Given the description of an element on the screen output the (x, y) to click on. 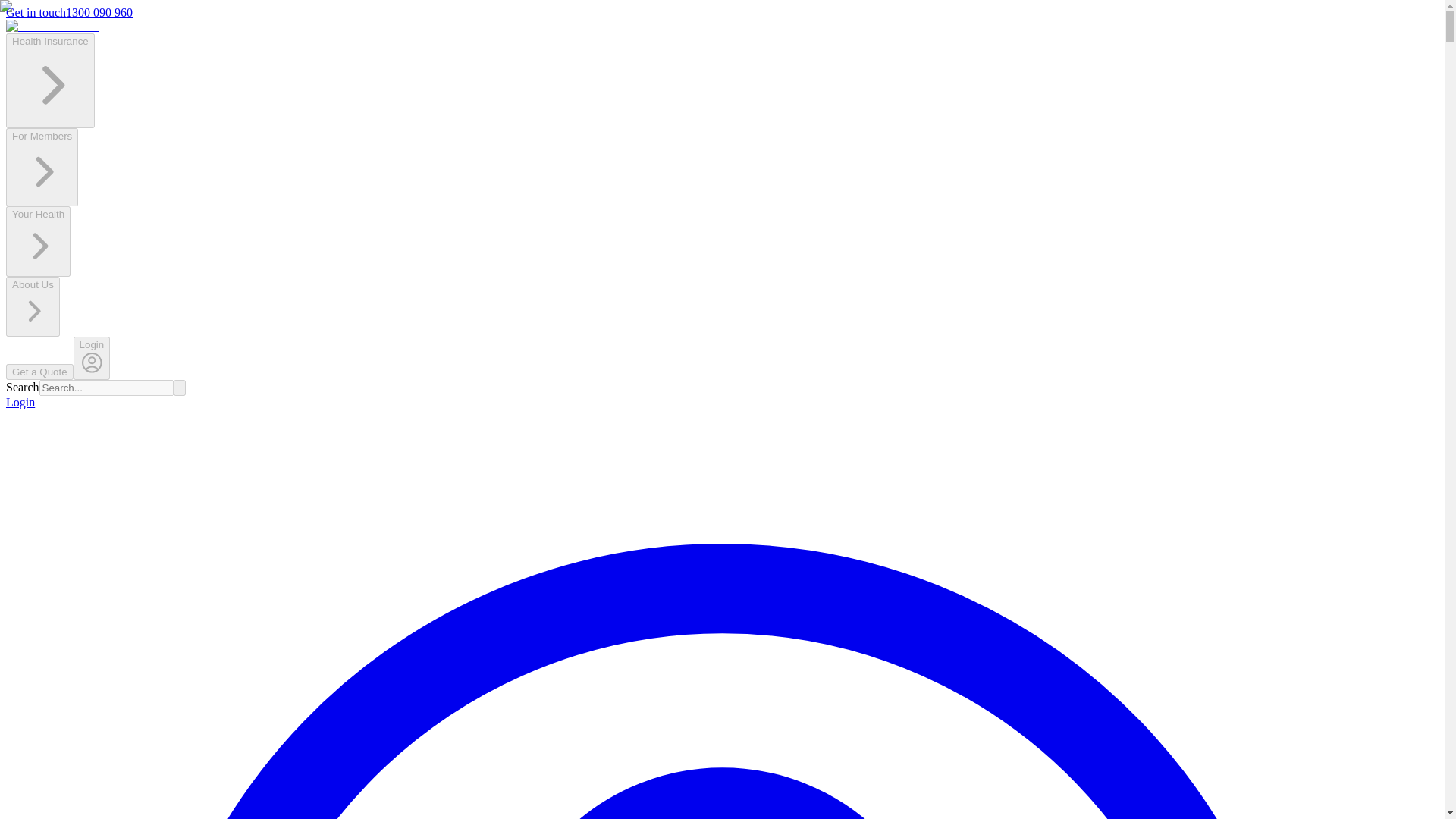
Health Insurance (49, 119)
Get a Quote (39, 370)
Your Health (37, 241)
For Members (41, 196)
Get a Quote (39, 371)
1300 090 960 (98, 11)
Get in touch (35, 11)
Health Insurance (49, 80)
About Us (32, 306)
For Members (41, 166)
